Given the description of an element on the screen output the (x, y) to click on. 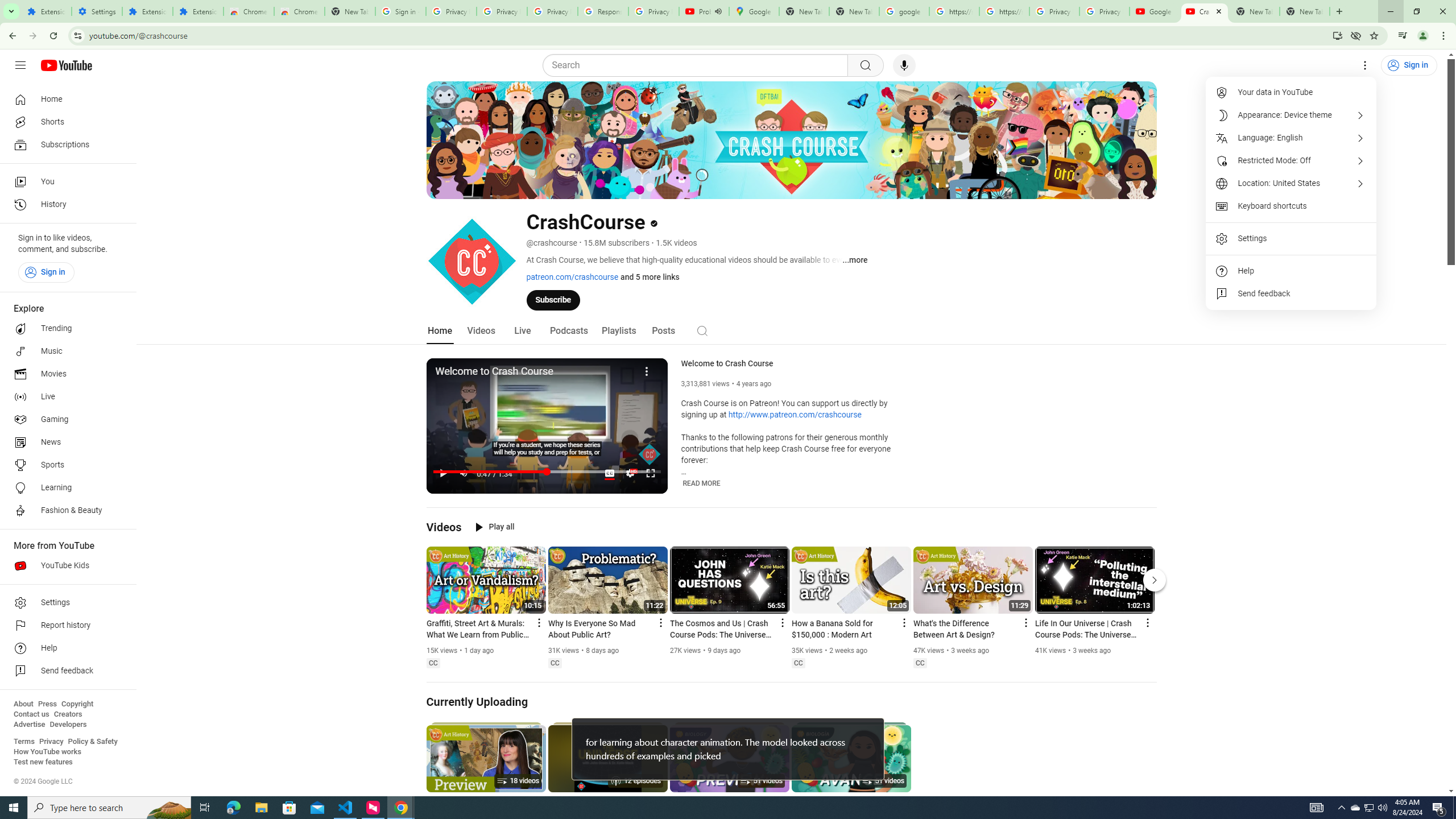
Subtitles/closed captions unavailable (609, 472)
https://scholar.google.com/ (954, 11)
Creators (67, 714)
Google - YouTube (1154, 11)
and 5 more links (649, 276)
About (23, 703)
YouTube Kids (64, 565)
Send feedback (1291, 293)
Pause (k) (443, 472)
